Given the description of an element on the screen output the (x, y) to click on. 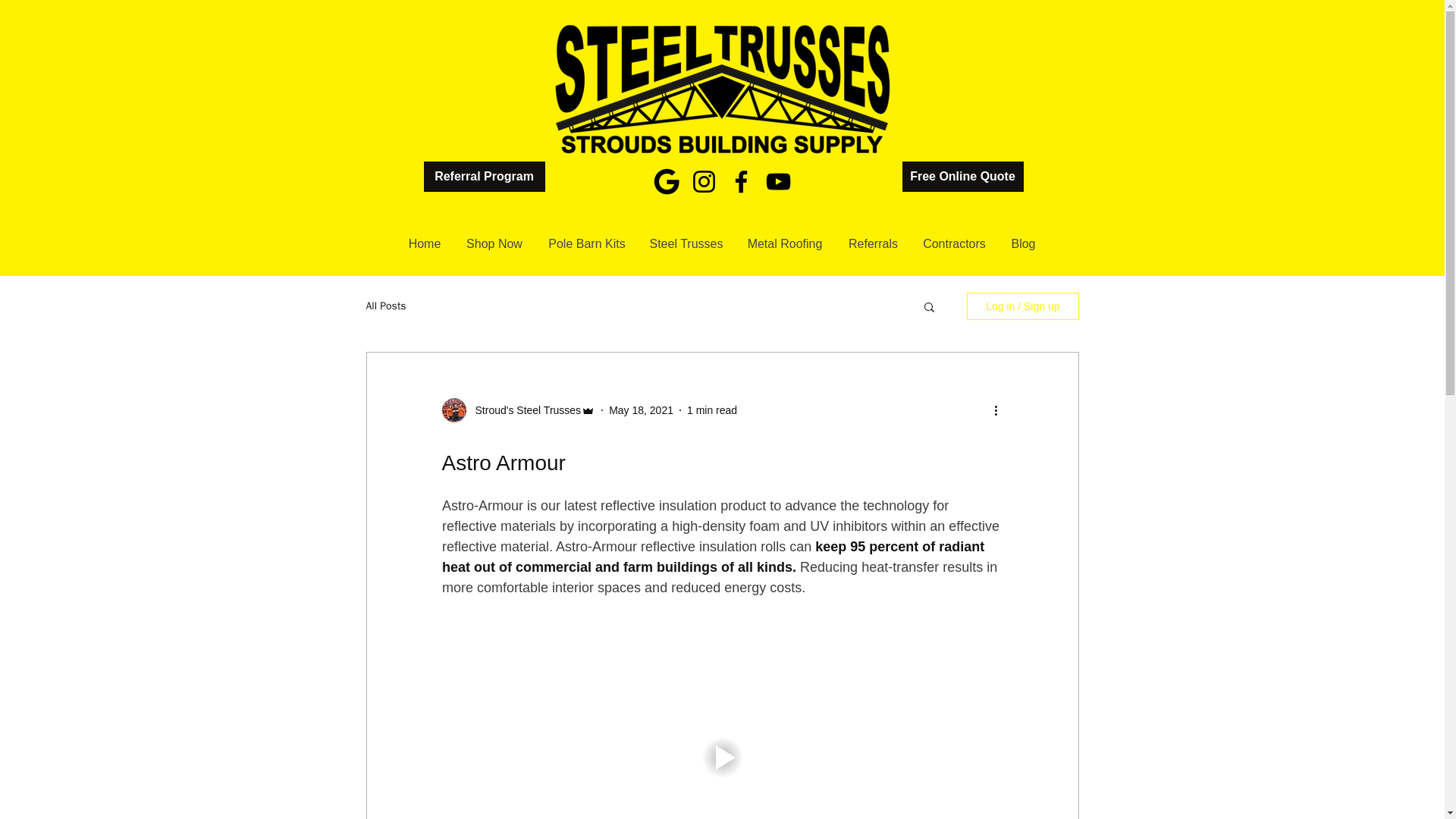
Contractors (954, 243)
Referrals (873, 243)
Metal Roofing (783, 243)
Shop Now (493, 243)
1 min read (711, 409)
Free Online Quote (962, 176)
Stroud's Steel Trusses (522, 409)
May 18, 2021 (640, 409)
Steel Trusses (686, 243)
Referral Program (483, 176)
Pole Barn Kits (586, 243)
All Posts (385, 305)
Home (424, 243)
